Given the description of an element on the screen output the (x, y) to click on. 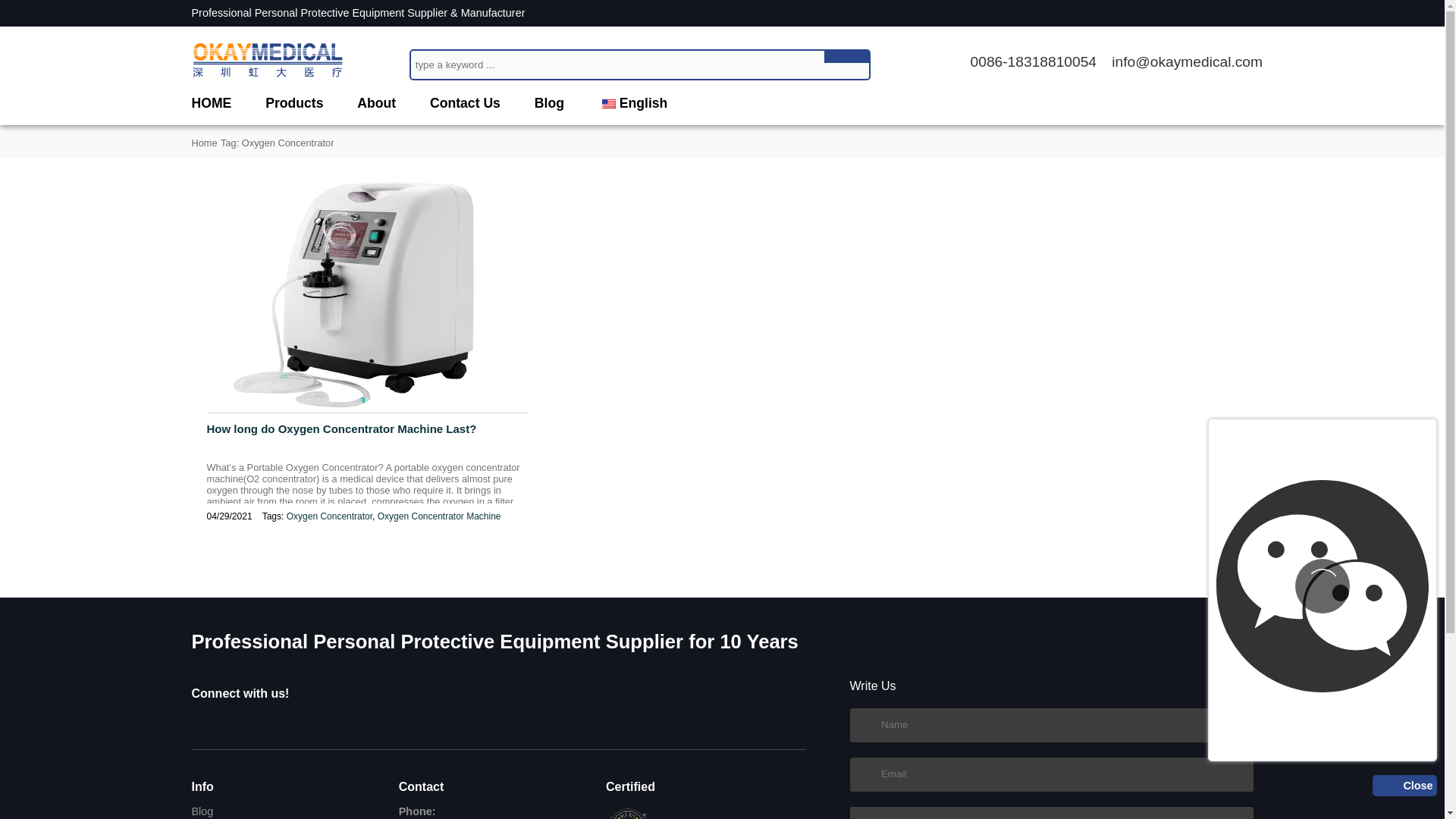
Blog (549, 103)
English (608, 103)
Products (293, 103)
Oxygen Concentrator Machine (438, 516)
Contact Us (464, 103)
English (633, 103)
0086-18318810054 (1033, 61)
Home (203, 142)
How long do Oxygen Concentrator Machine Last? (366, 437)
Oxygen Concentrator (329, 516)
